Given the description of an element on the screen output the (x, y) to click on. 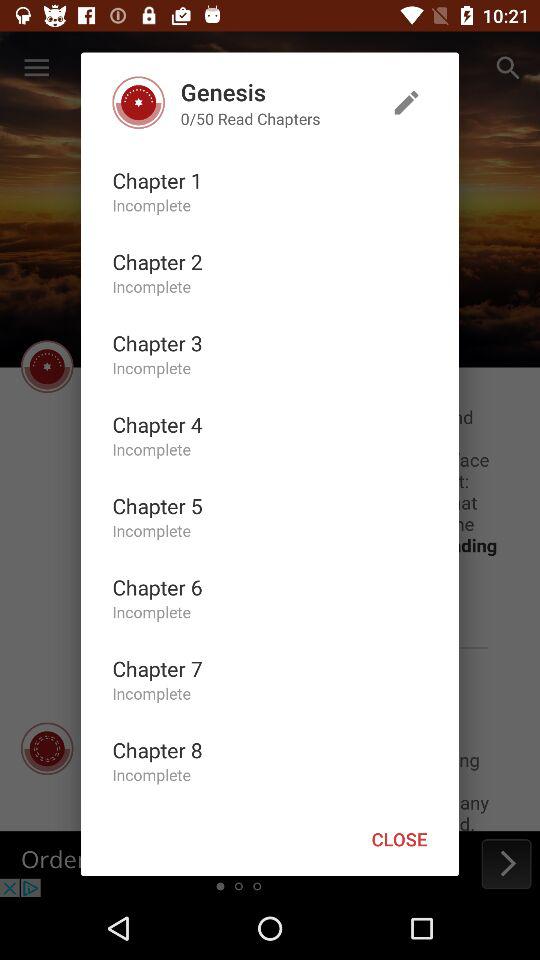
tap chapter 4 icon (157, 424)
